Given the description of an element on the screen output the (x, y) to click on. 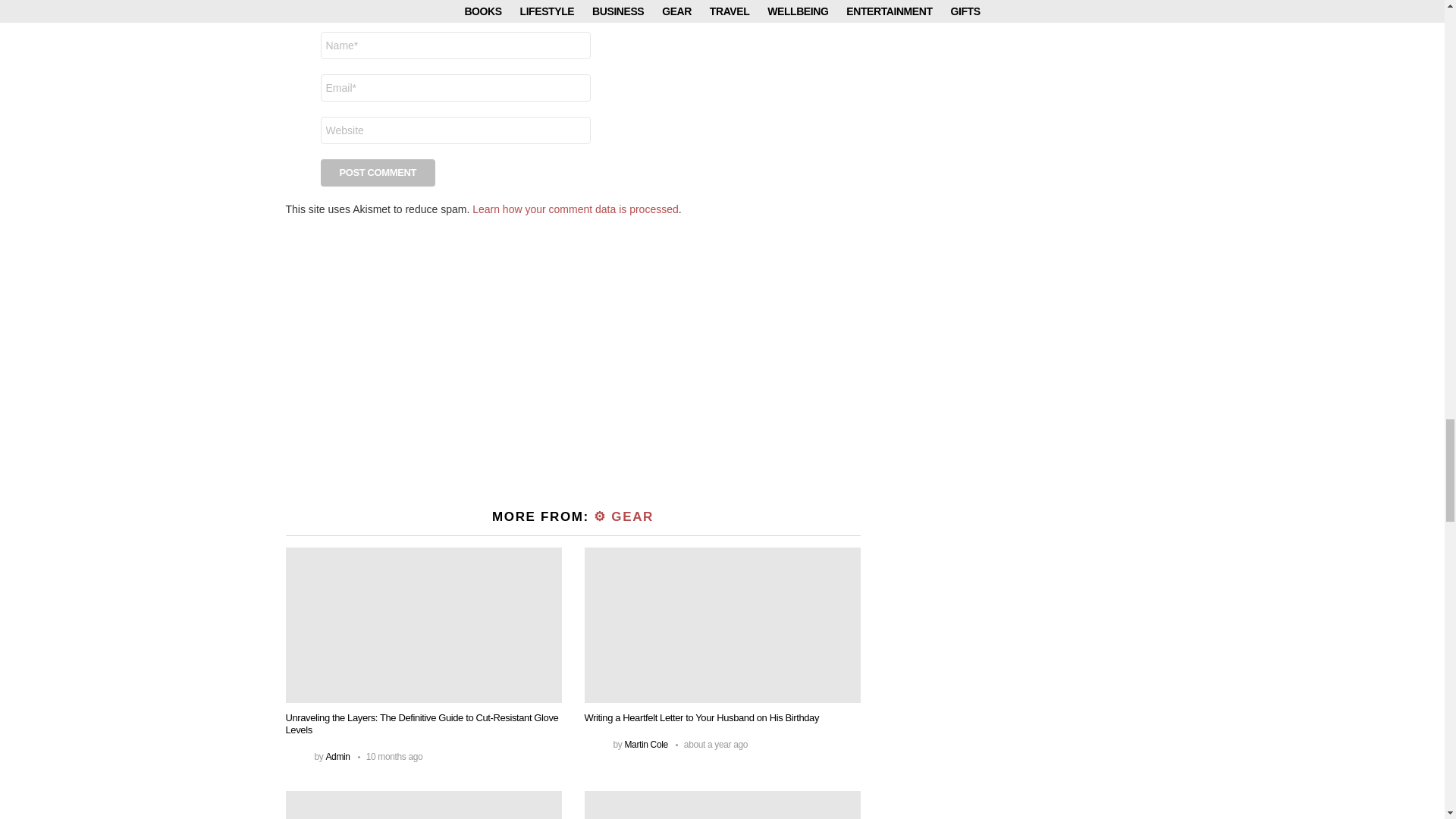
July 18, 2023, 8:19 pm (711, 744)
Writing a Heartfelt Letter to Your Husband on His Birthday (721, 624)
Posts by Admin (336, 756)
Posts by Martin Cole (645, 744)
October 1, 2023, 11:47 am (390, 756)
A Guide To Choosing The Right Cycling Sunglasses (422, 805)
Post Comment (377, 172)
